Given the description of an element on the screen output the (x, y) to click on. 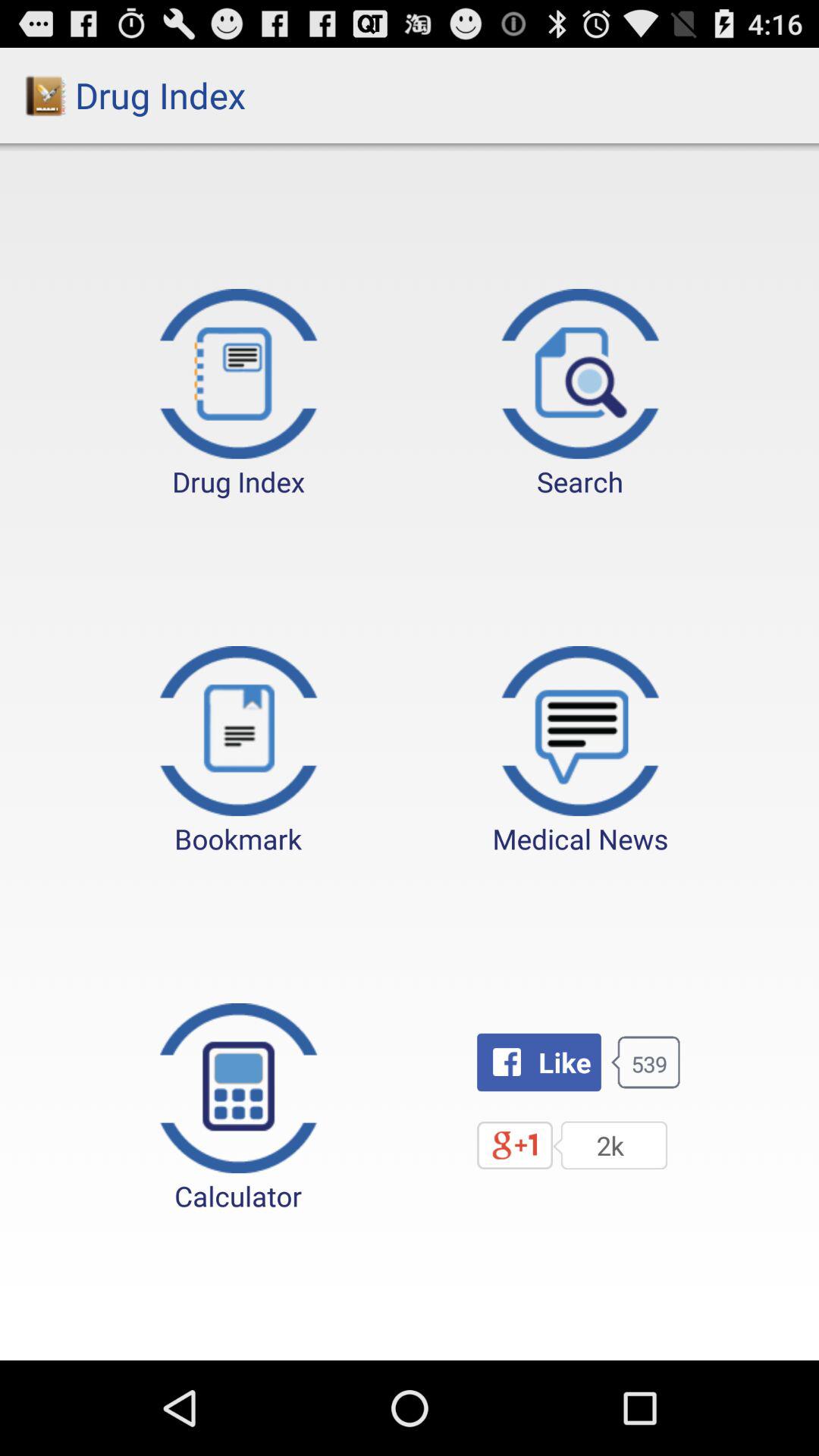
swipe until the bookmark button (238, 751)
